Given the description of an element on the screen output the (x, y) to click on. 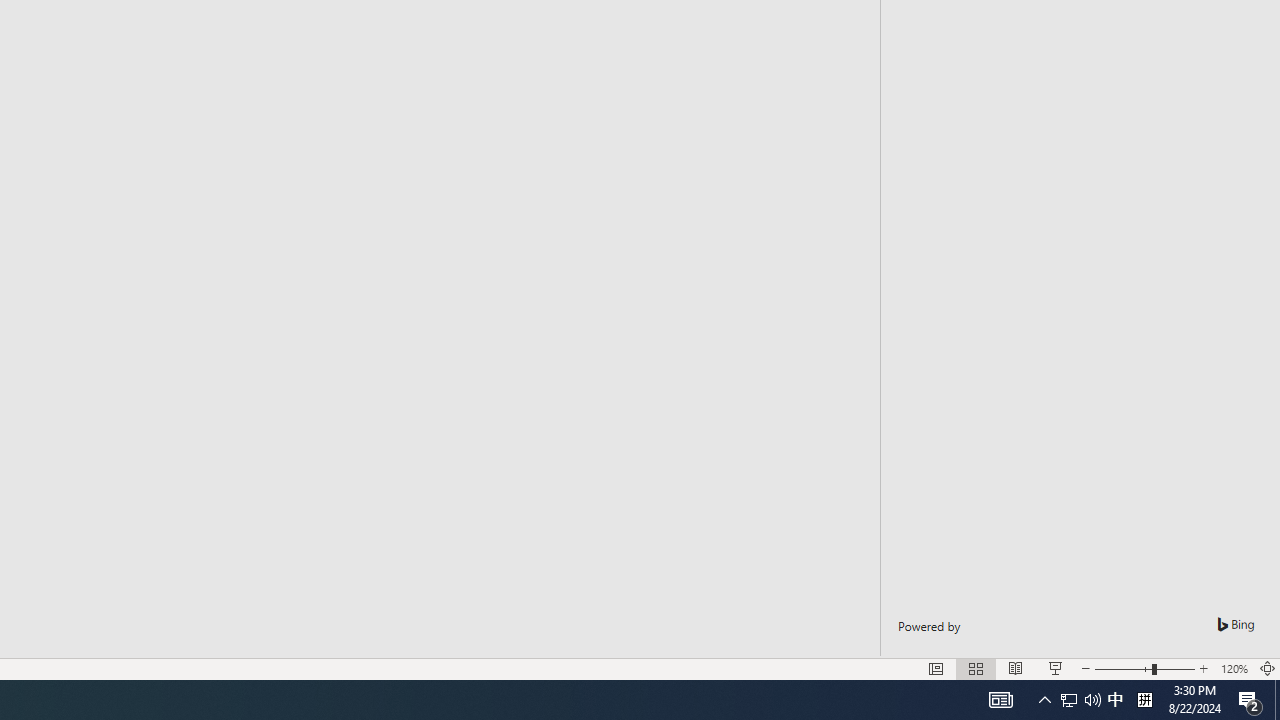
Zoom 120% (1234, 668)
